Given the description of an element on the screen output the (x, y) to click on. 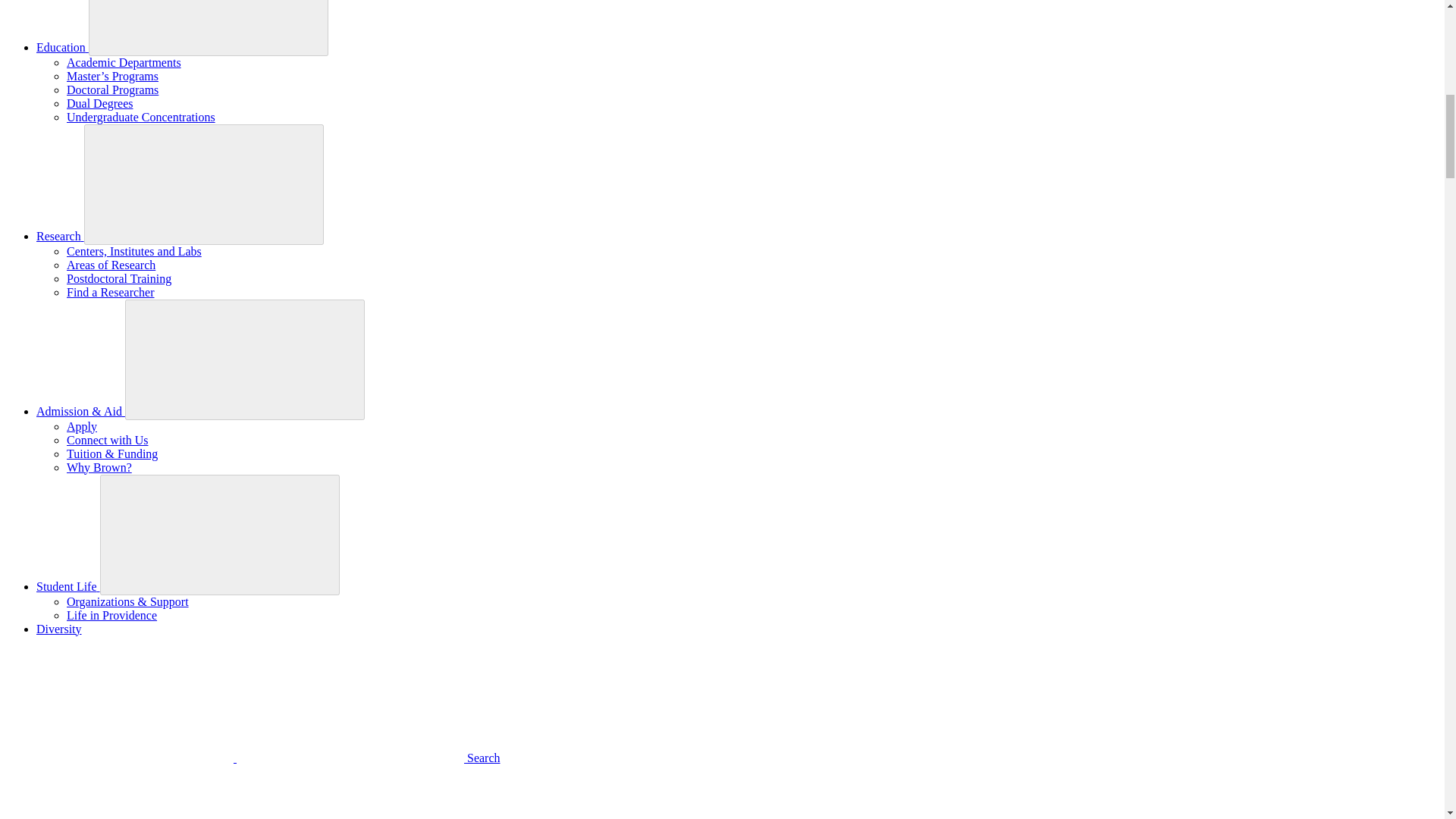
Apply (81, 426)
Education (62, 47)
Student Life (68, 585)
Doctoral Programs (112, 89)
Centers, Institutes and Labs (134, 250)
Areas of Research (110, 264)
Connect with Us (107, 440)
Research (60, 236)
Academic Departments (123, 62)
Find a Researcher (110, 291)
Postdoctoral Training (118, 278)
Why Brown? (99, 467)
Undergraduate Concentrations (140, 116)
Dual Degrees (99, 103)
